Given the description of an element on the screen output the (x, y) to click on. 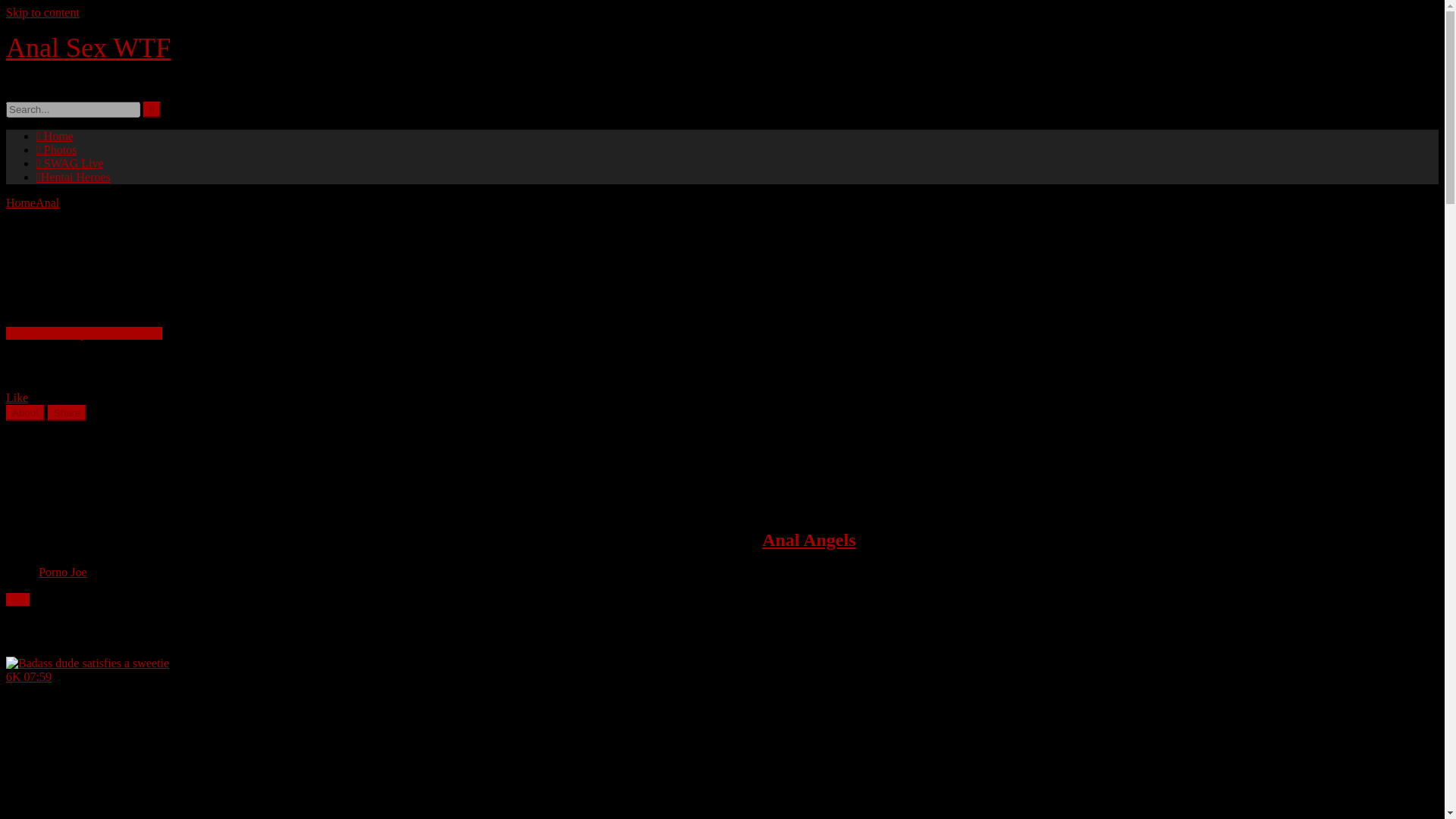
Hottie gets her load of sperm (83, 332)
Download complete video now! (83, 332)
Home (19, 202)
Anal (17, 599)
Anal (46, 202)
Skip to content (42, 11)
Anal Angels (808, 539)
Porno Joe (63, 571)
I like this (16, 397)
Like (16, 397)
Anal Sex WTF (87, 47)
Search... (72, 109)
Badass dude satisfies a sweetie (148, 737)
About (25, 412)
Share (67, 412)
